Given the description of an element on the screen output the (x, y) to click on. 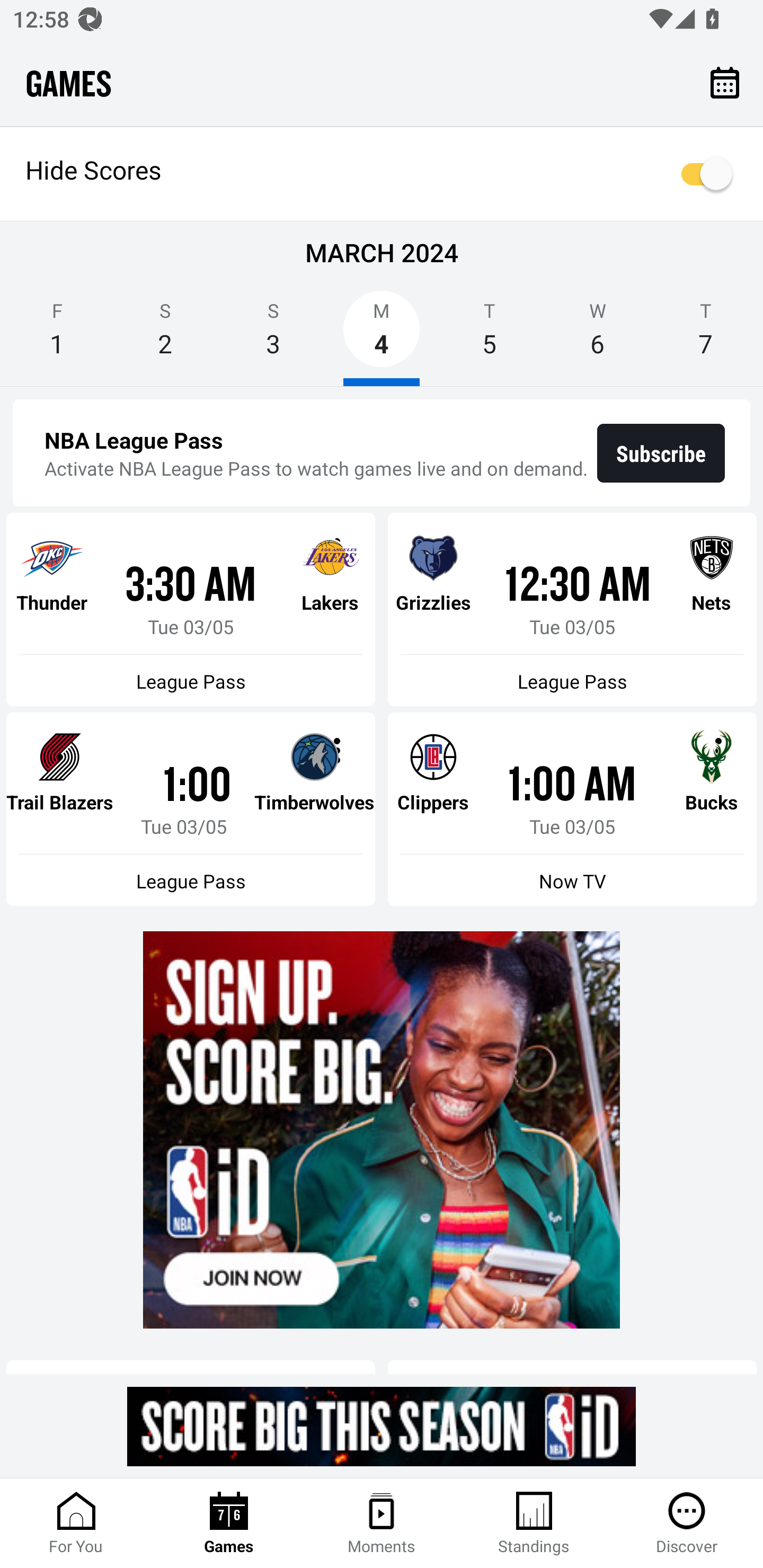
Calendar (724, 81)
Hide Scores (381, 174)
F 1 (57, 334)
S 2 (165, 334)
S 3 (273, 334)
M 4 (381, 334)
T 5 (489, 334)
W 6 (597, 334)
T 7 (705, 334)
Subscribe (660, 452)
For You (76, 1523)
Moments (381, 1523)
Standings (533, 1523)
Discover (686, 1523)
